Given the description of an element on the screen output the (x, y) to click on. 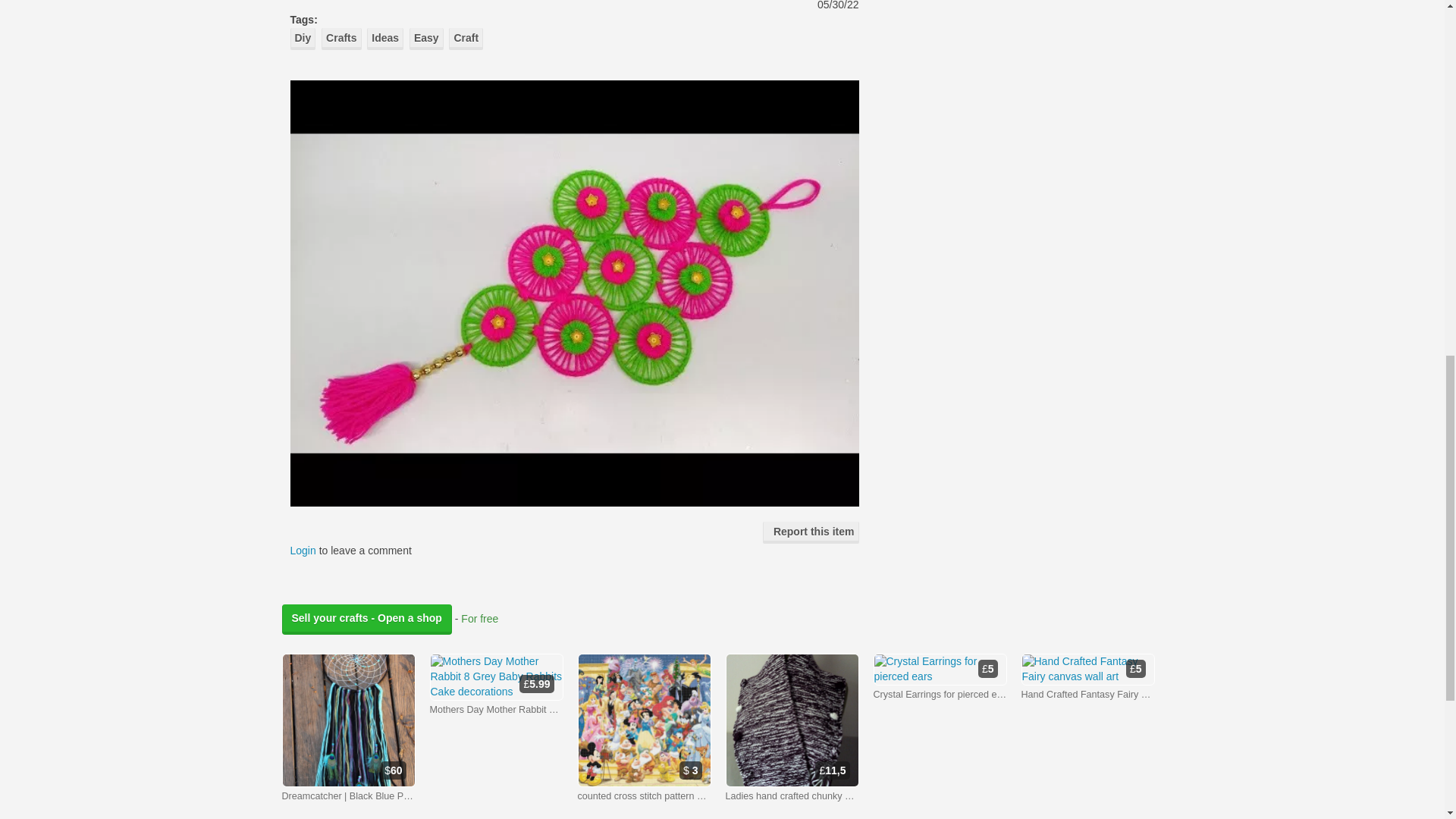
  Report this item (810, 532)
Craft (465, 38)
Sell your crafts - Open a shop (366, 619)
Diy (302, 38)
Craft (465, 38)
Ideas (384, 38)
Crafts (341, 38)
Crafts (341, 38)
Easy (426, 38)
